Given the description of an element on the screen output the (x, y) to click on. 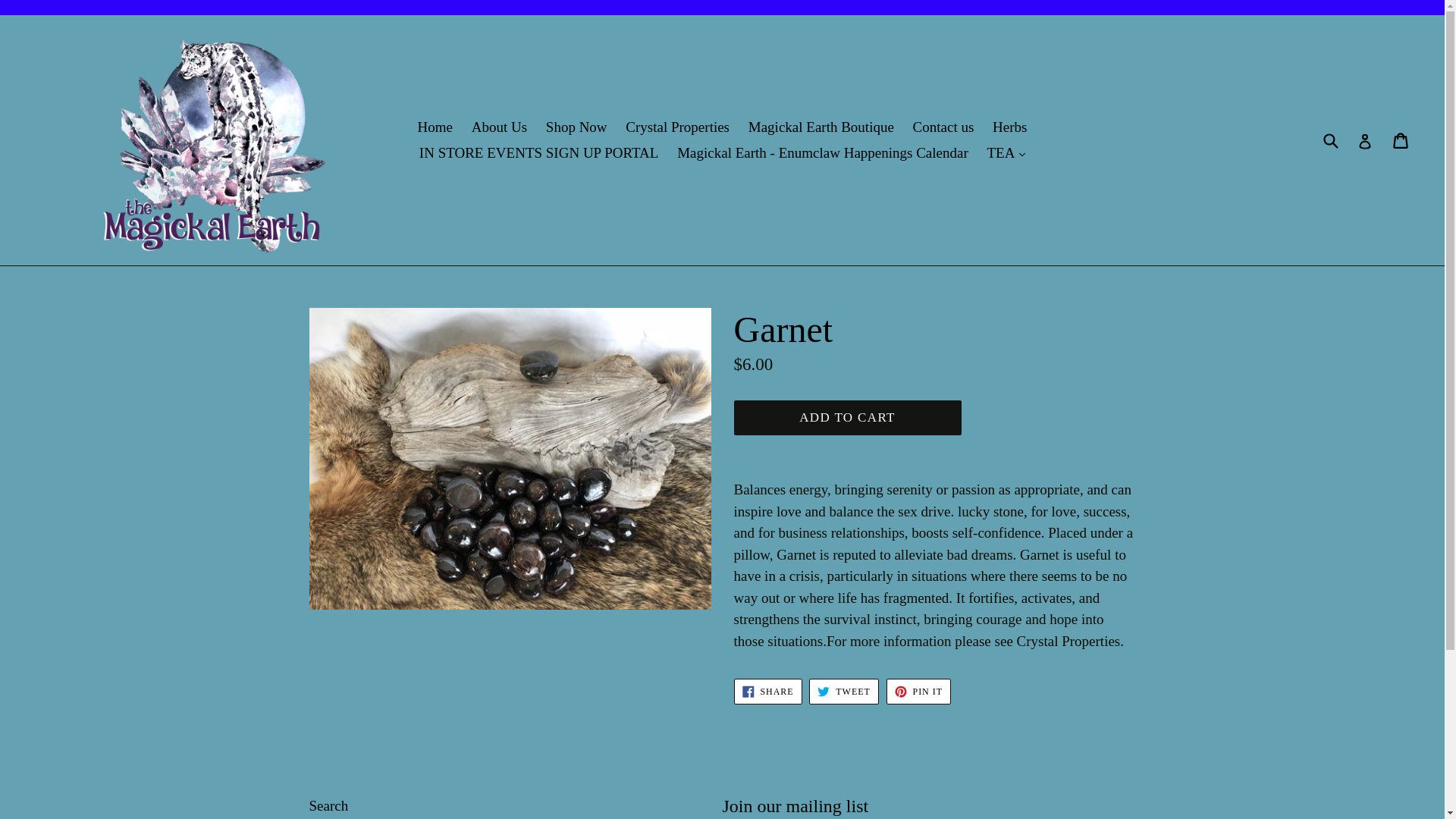
IN STORE EVENTS SIGN UP PORTAL (539, 153)
About Us (499, 126)
Home (435, 126)
Magickal Earth - Enumclaw Happenings Calendar (822, 153)
Search (328, 805)
Contact us (943, 126)
Tweet on Twitter (843, 691)
Crystal Properties (676, 126)
Pin on Pinterest (918, 691)
